Given the description of an element on the screen output the (x, y) to click on. 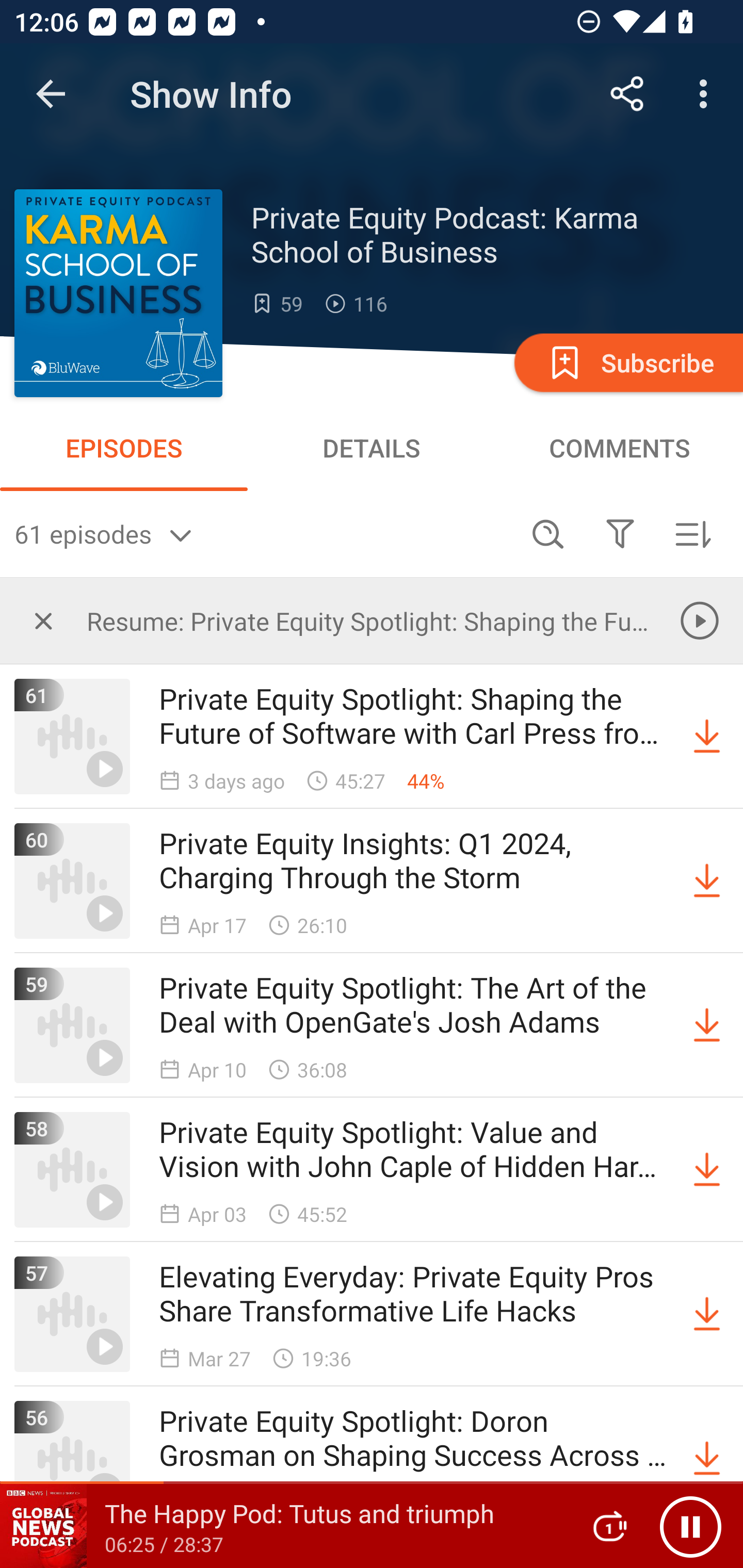
Navigate up (50, 93)
Share (626, 93)
More options (706, 93)
Subscribe (627, 361)
EPISODES (123, 447)
DETAILS (371, 447)
COMMENTS (619, 447)
61 episodes  (262, 533)
 Search (547, 533)
 (619, 533)
 Sorted by newest first (692, 533)
 (43, 620)
Download (706, 736)
Download (706, 881)
Download (706, 1025)
Download (706, 1169)
Download (706, 1313)
Download (706, 1458)
The Happy Pod: Tutus and triumph 06:25 / 28:37 (283, 1525)
Pause (690, 1526)
